Given the description of an element on the screen output the (x, y) to click on. 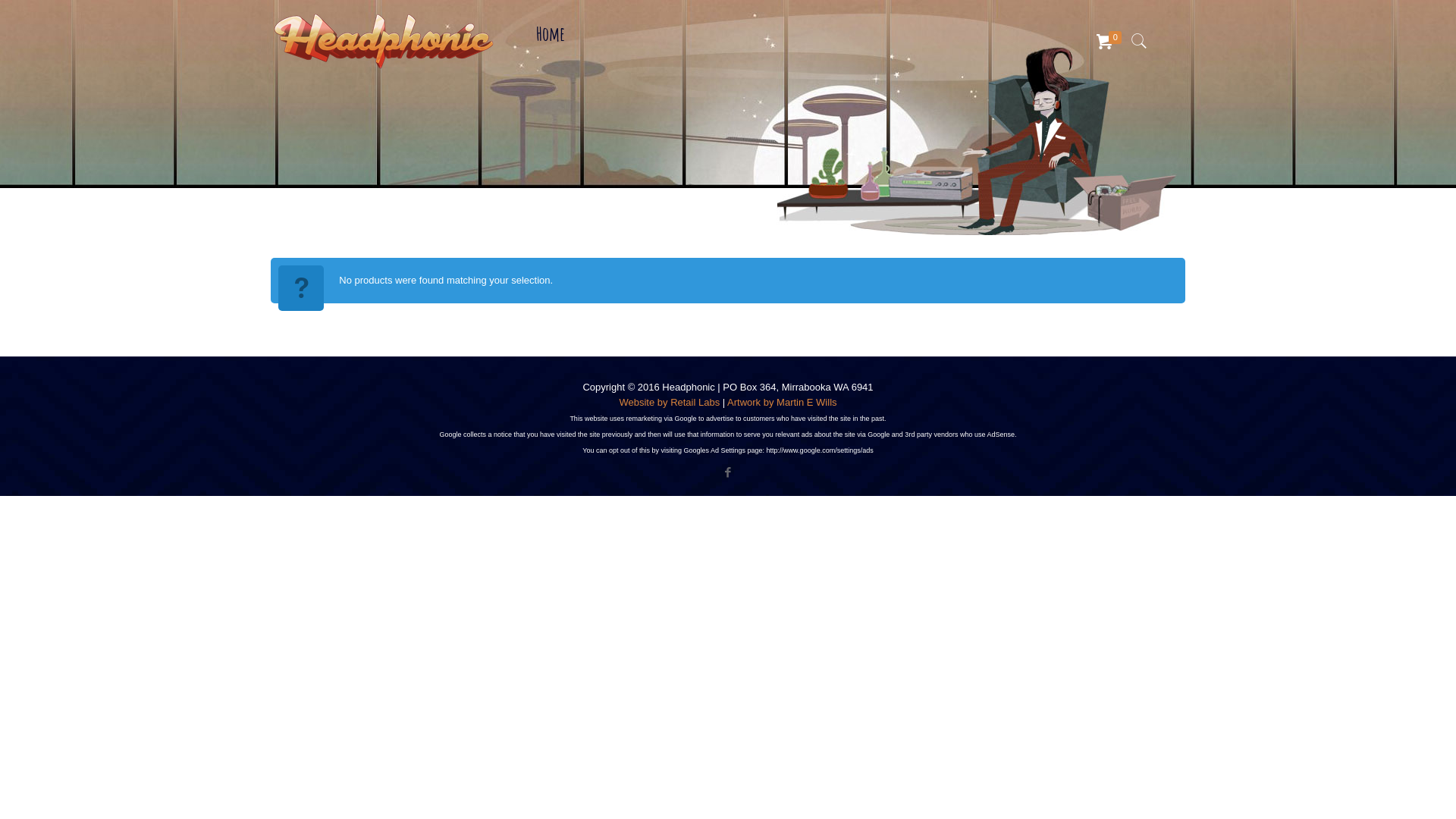
Home Element type: text (550, 33)
Artwork by Martin E Wills Element type: text (781, 401)
Facebook Element type: hover (727, 471)
0 Element type: text (1110, 42)
Website by Retail Labs Element type: text (668, 401)
Headphonic Element type: hover (384, 41)
